Given the description of an element on the screen output the (x, y) to click on. 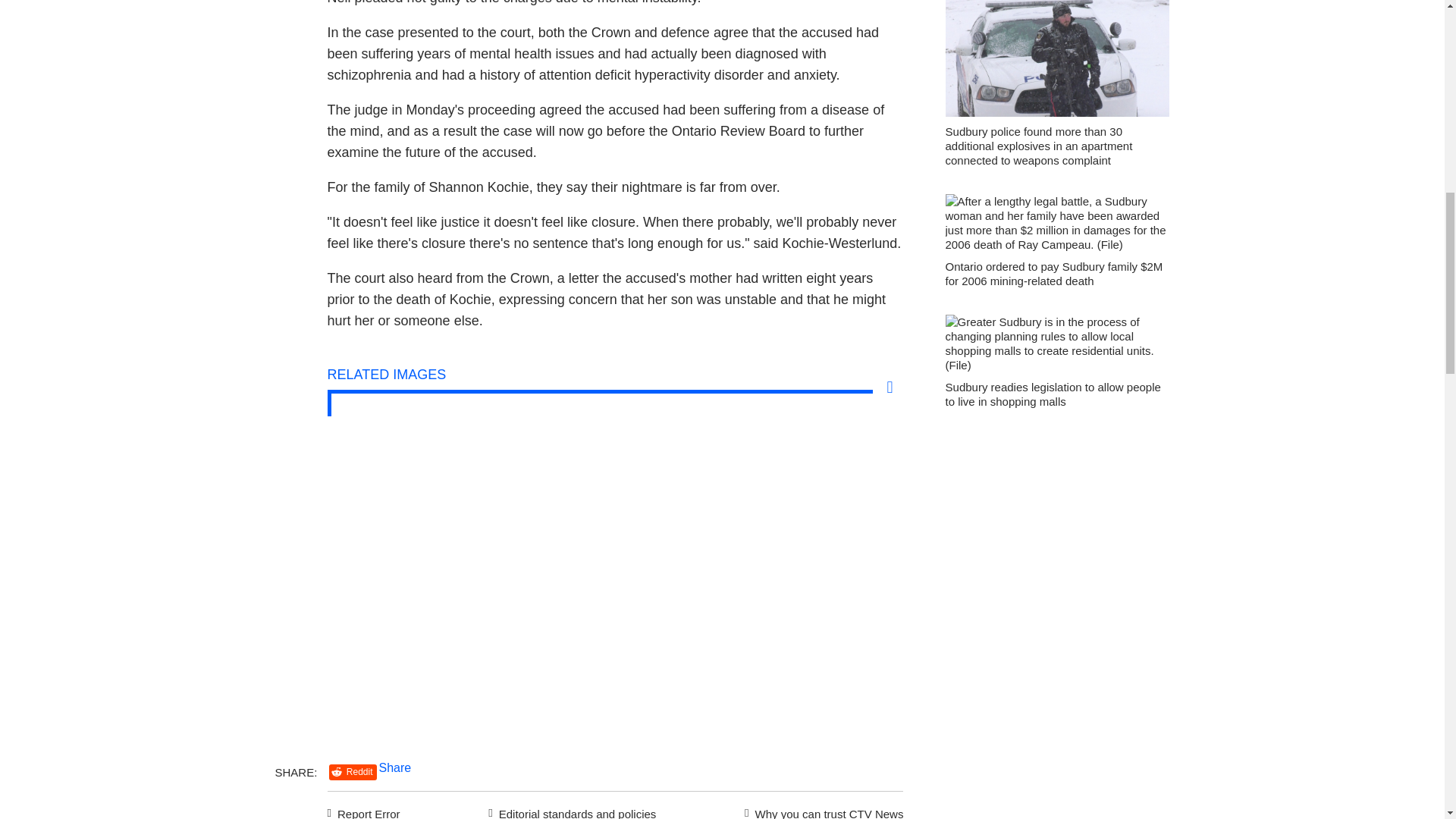
Report Error (363, 809)
Reddit (353, 772)
Share (395, 767)
Editorial standards and policies (569, 809)
Why you can trust CTV News (820, 809)
